Given the description of an element on the screen output the (x, y) to click on. 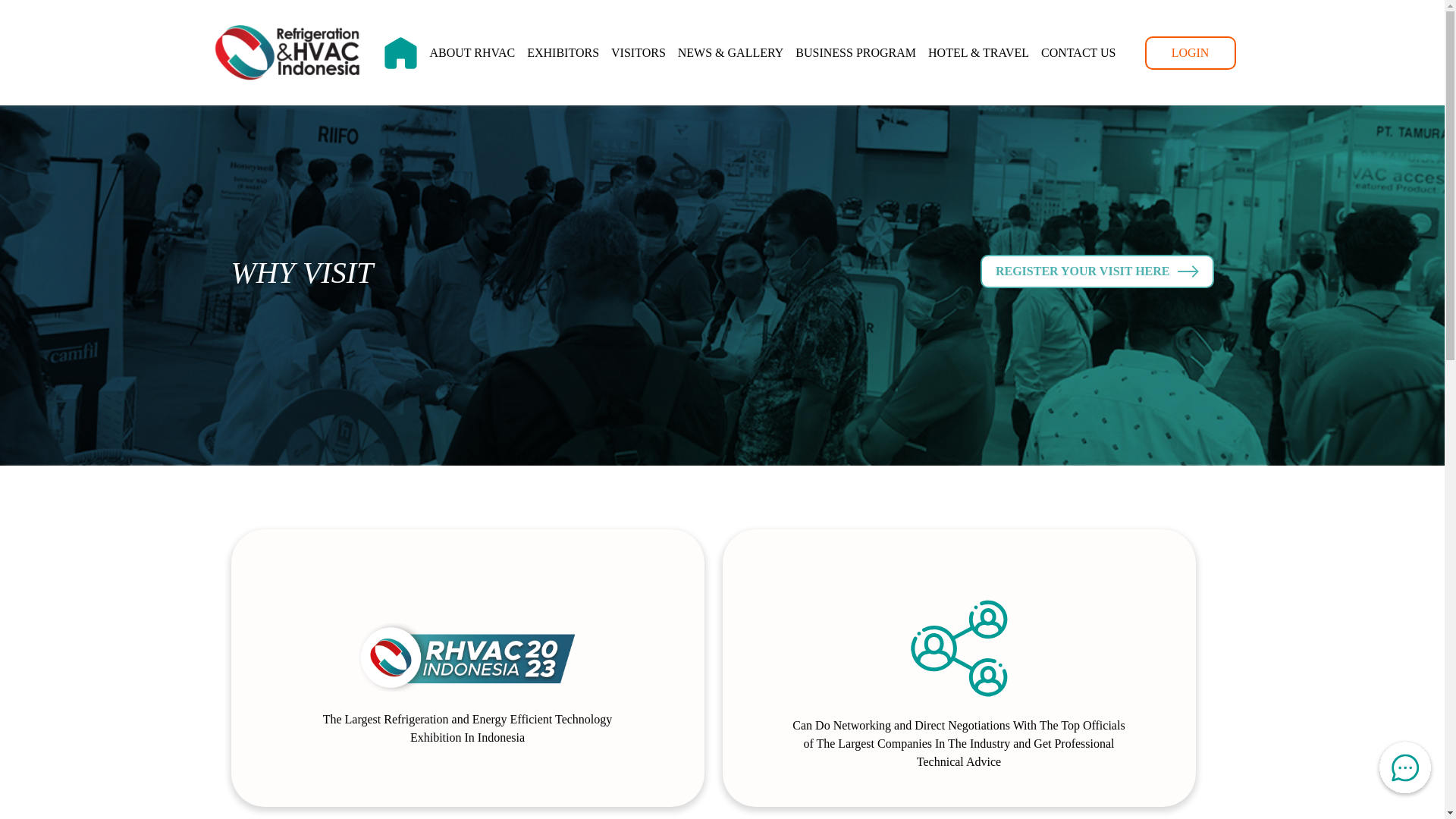
REGISTER YOUR VISIT HERE (1096, 271)
CONTACT US (1078, 52)
ABOUT RHVAC (472, 52)
VISITORS (638, 52)
LOGIN (1190, 52)
EXHIBITORS (563, 52)
BUSINESS PROGRAM (855, 52)
